Given the description of an element on the screen output the (x, y) to click on. 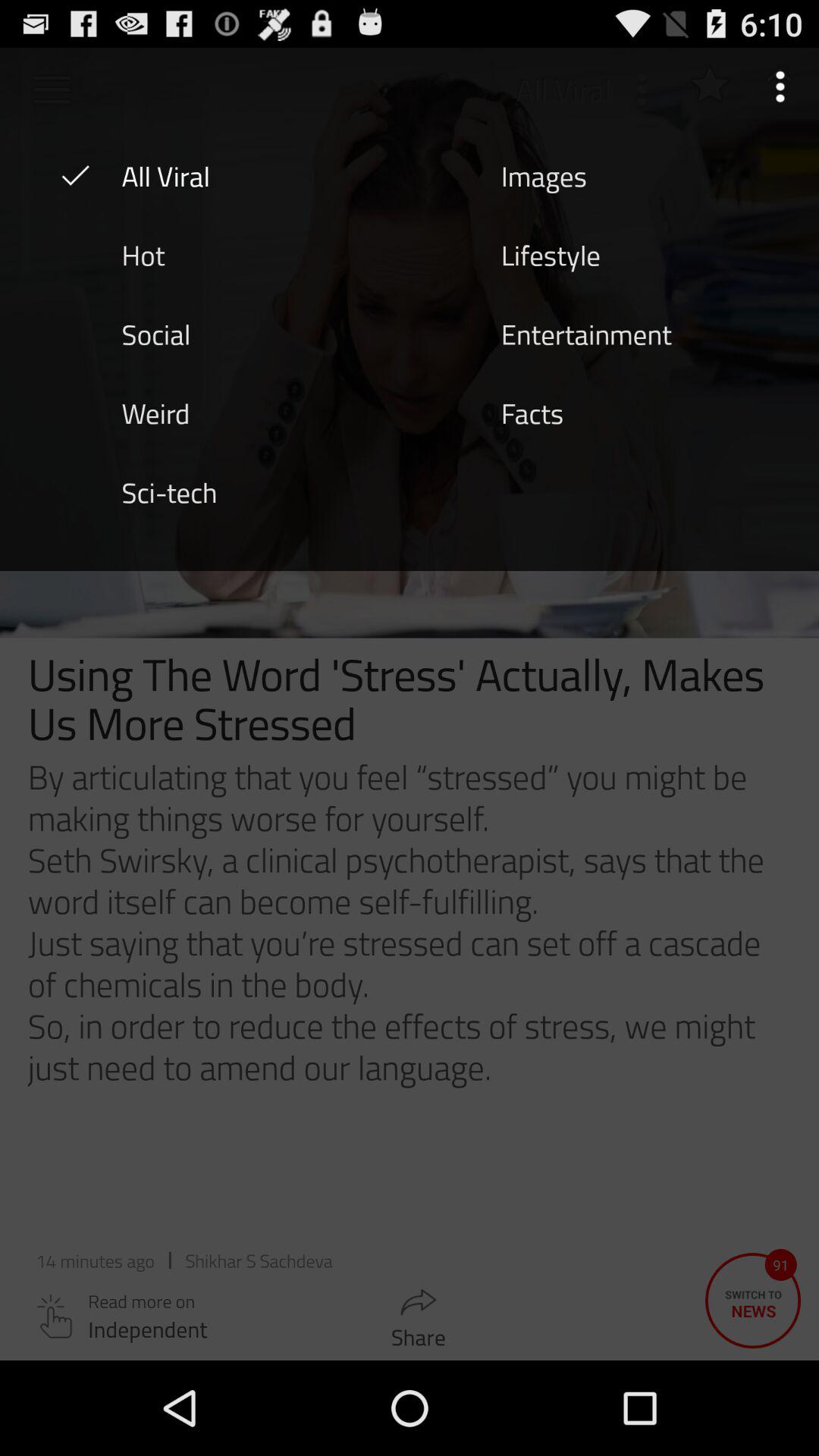
press item to the left of the facts (155, 411)
